Given the description of an element on the screen output the (x, y) to click on. 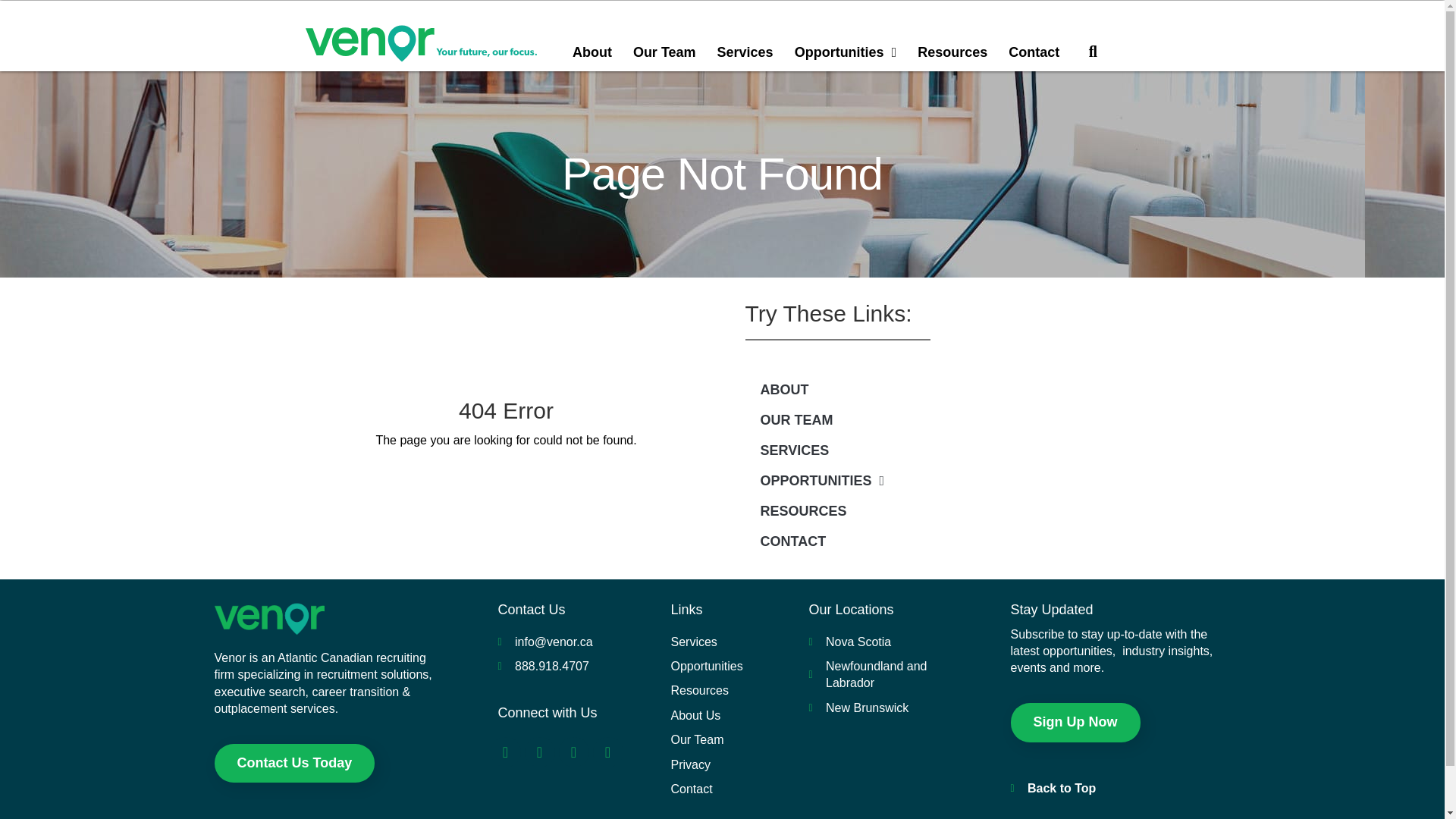
Resources (952, 51)
SERVICES (937, 450)
Our Team (664, 51)
ABOUT (937, 389)
OUR TEAM (937, 419)
OPPORTUNITIES (937, 481)
Contact (1033, 51)
Services (745, 51)
Opportunities (845, 51)
About (592, 51)
